Given the description of an element on the screen output the (x, y) to click on. 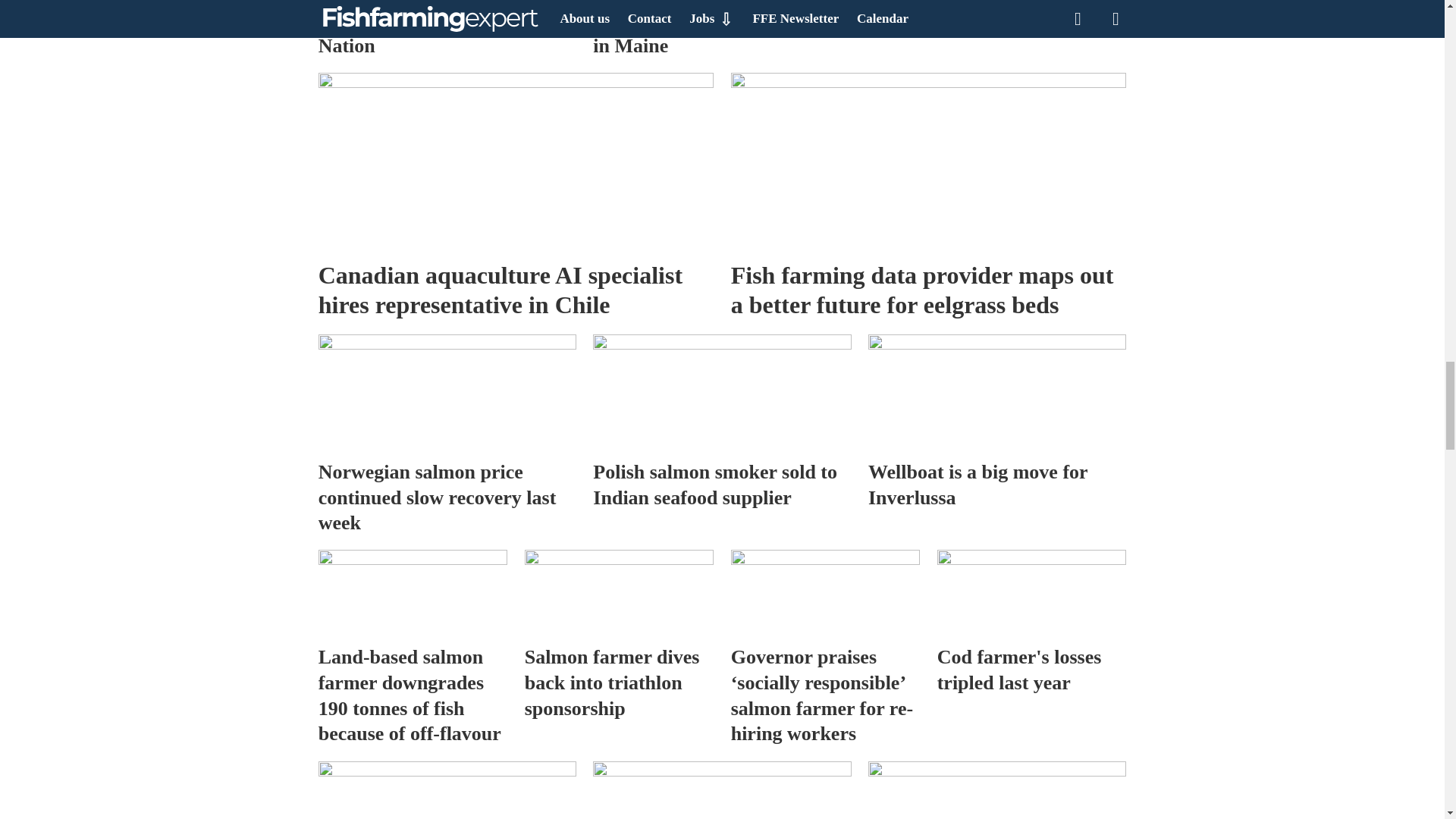
Cod farmer's losses tripled last year (1031, 592)
Norwegian salmon price continued slow recovery last week (447, 392)
Salmon farmer dives back into triathlon sponsorship (619, 592)
Polish salmon smoker sold to Indian seafood supplier (721, 392)
Wellboat is a big move for Inverlussa (996, 392)
